Given the description of an element on the screen output the (x, y) to click on. 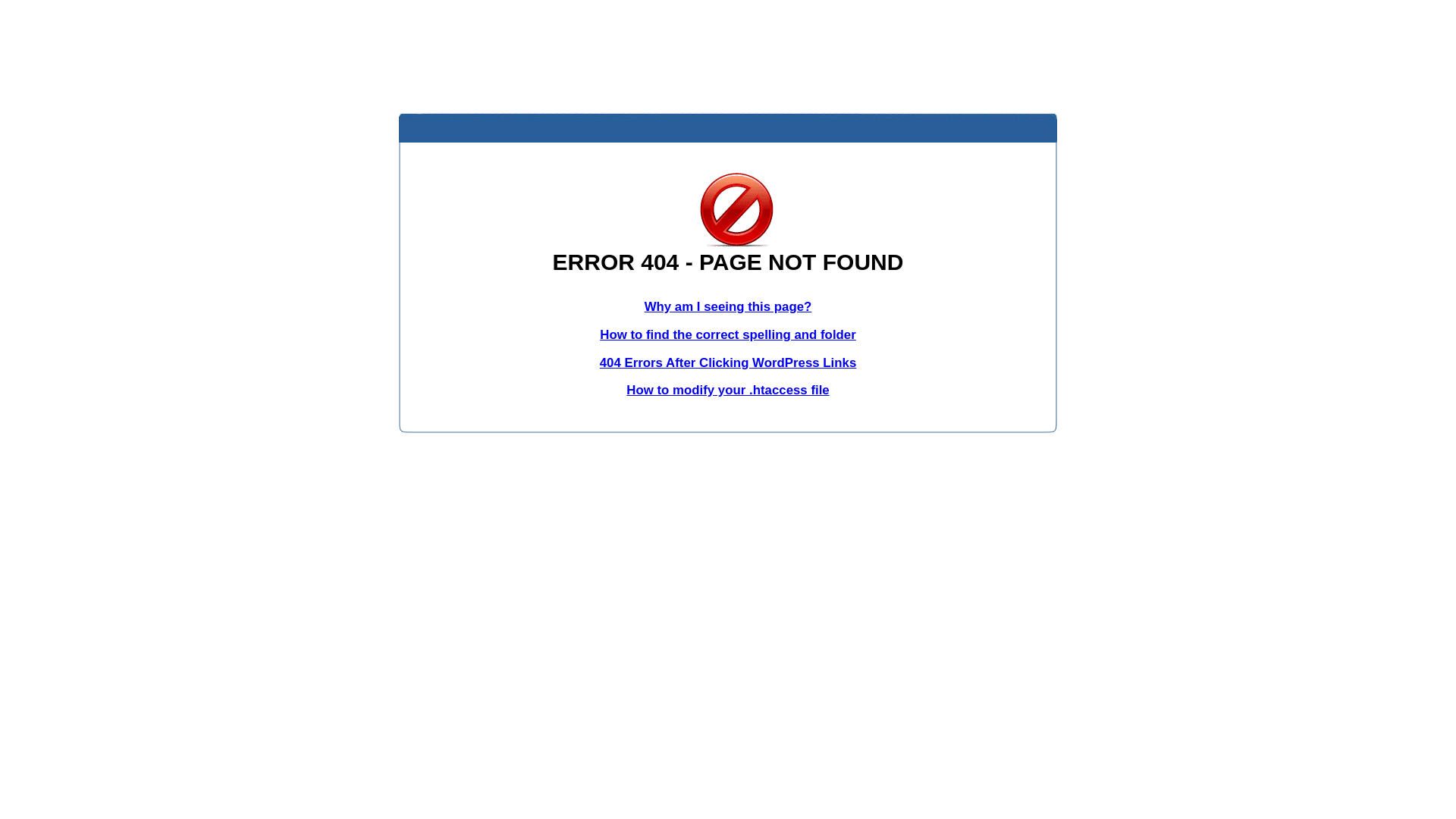
How to find the correct spelling and folder Element type: text (727, 334)
How to modify your .htaccess file Element type: text (727, 389)
Why am I seeing this page? Element type: text (728, 306)
404 Errors After Clicking WordPress Links Element type: text (727, 362)
